Given the description of an element on the screen output the (x, y) to click on. 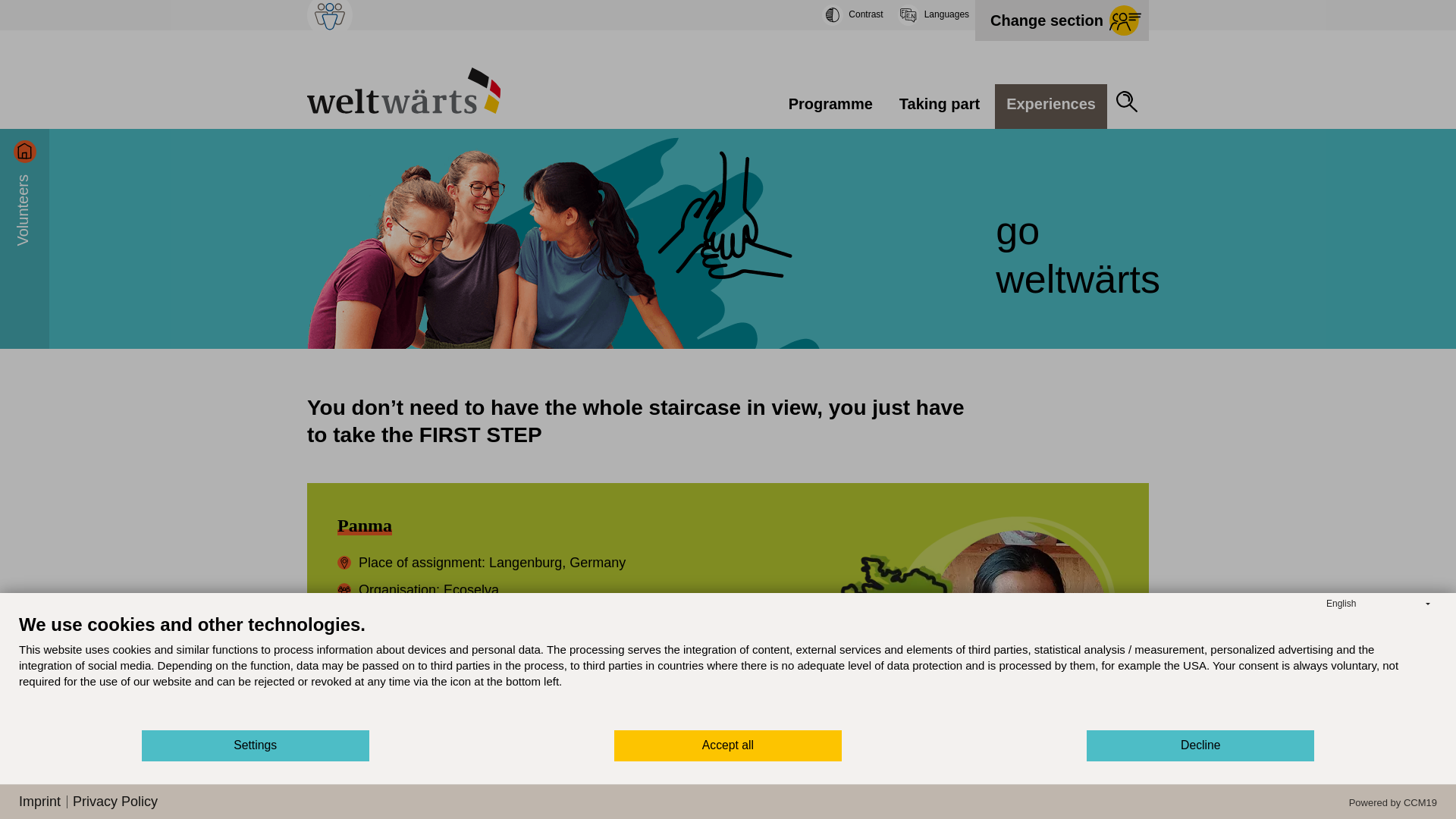
Programme (830, 106)
Change section (1061, 20)
Taking part (939, 106)
Contrast (847, 15)
Learn more about Engagement Global (329, 15)
Contrast (847, 15)
Programme (830, 106)
Languages (929, 15)
Select language (929, 15)
